Given the description of an element on the screen output the (x, y) to click on. 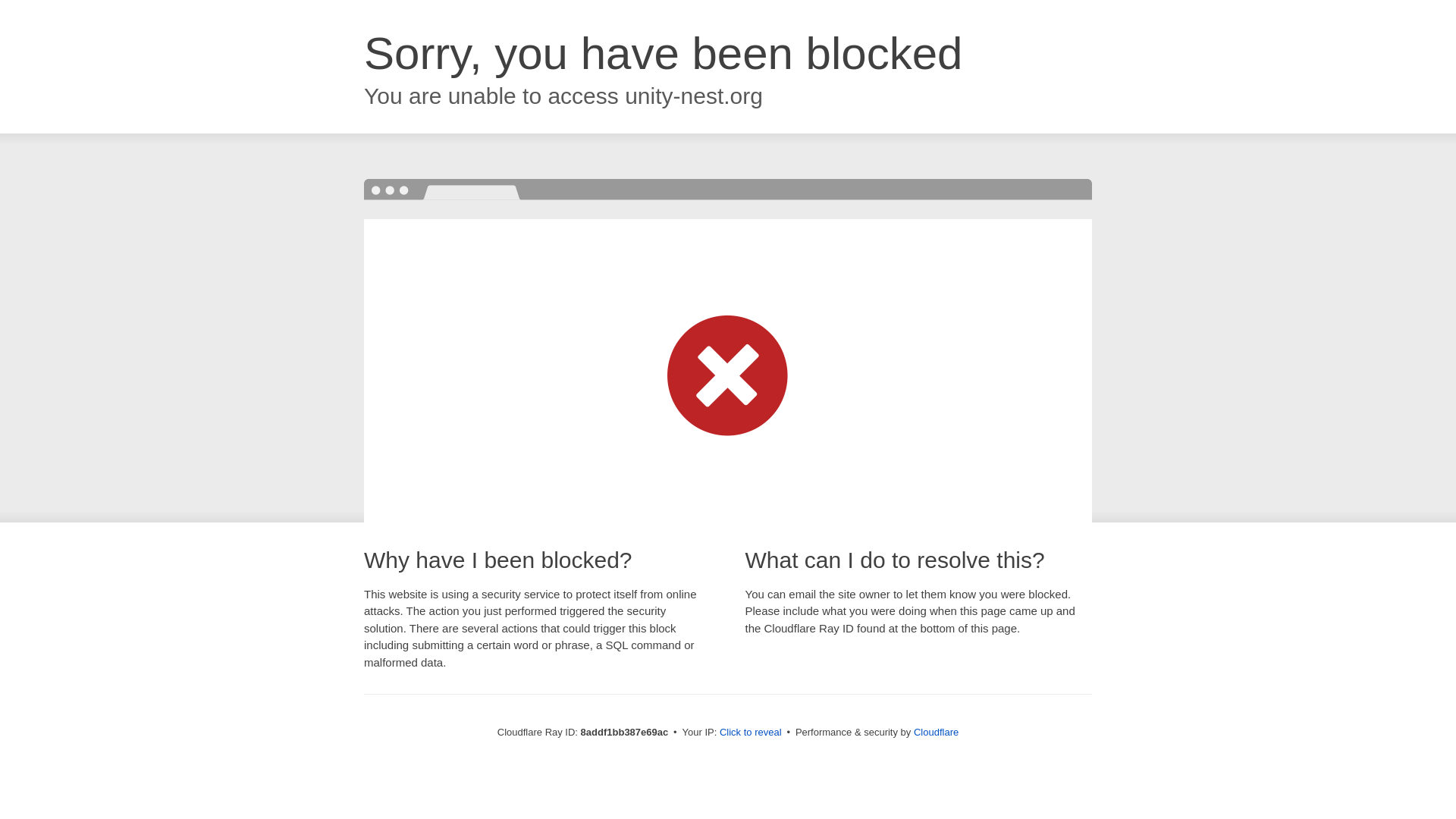
Cloudflare (936, 731)
Click to reveal (750, 732)
